Given the description of an element on the screen output the (x, y) to click on. 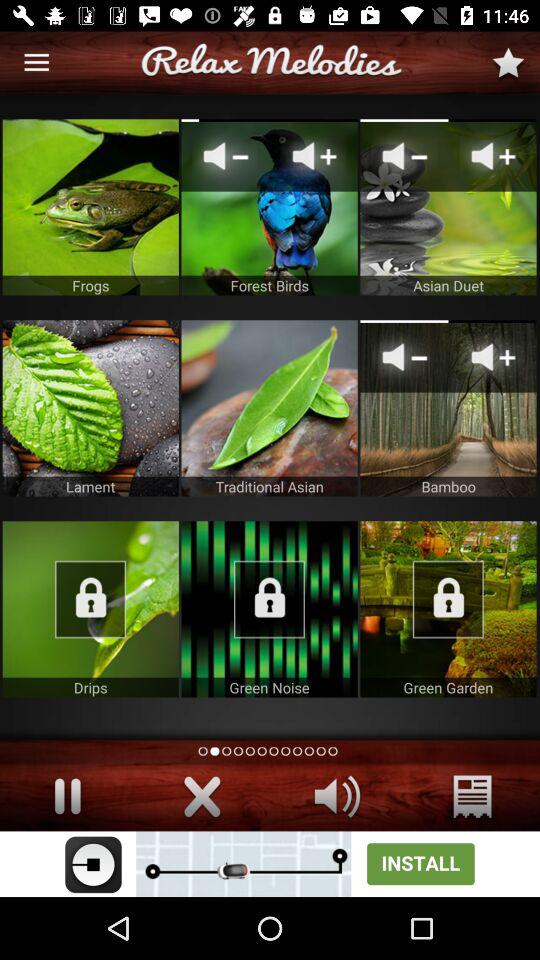
unlock item (448, 609)
